Given the description of an element on the screen output the (x, y) to click on. 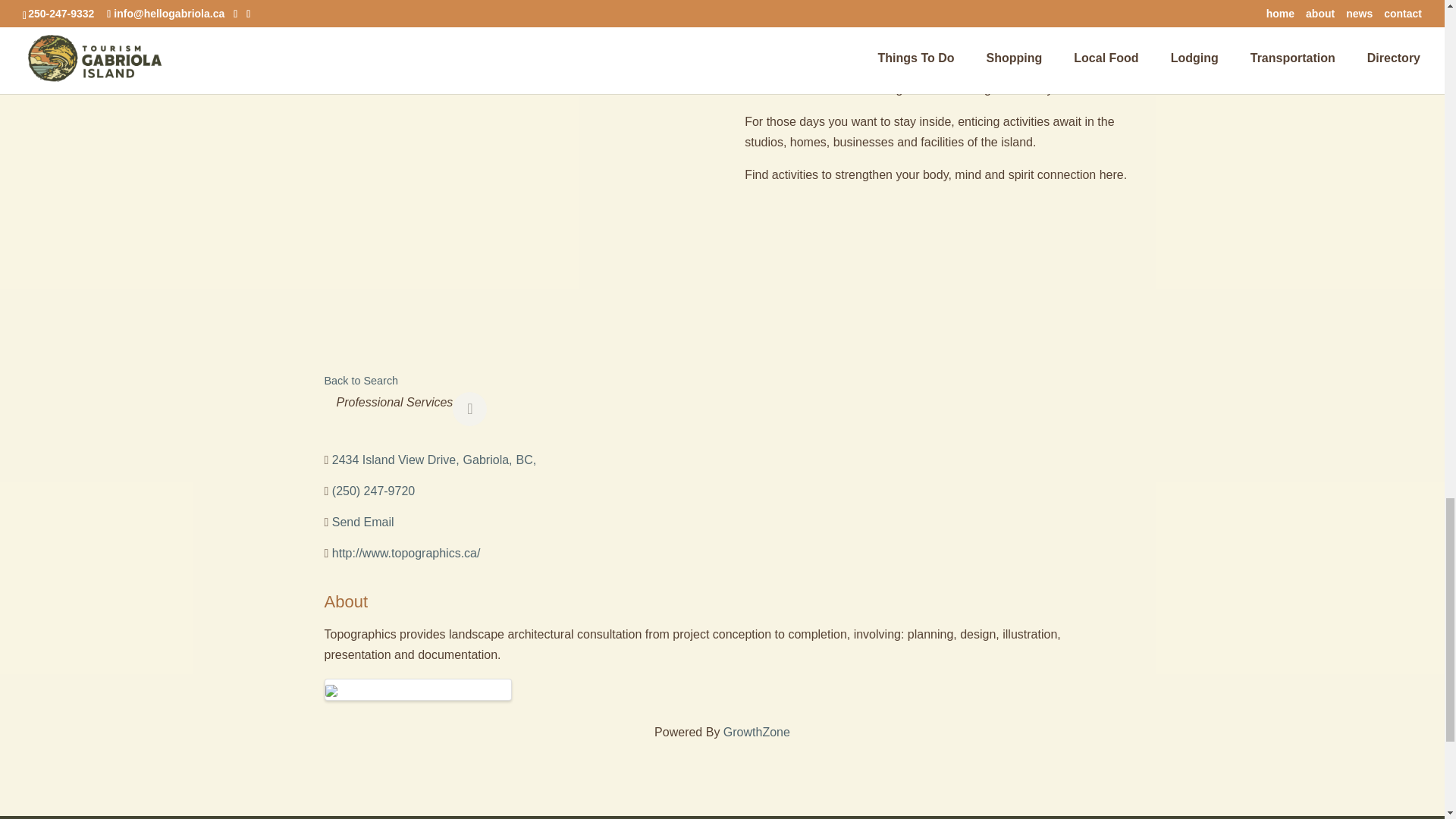
Back to Search (437, 459)
